Given the description of an element on the screen output the (x, y) to click on. 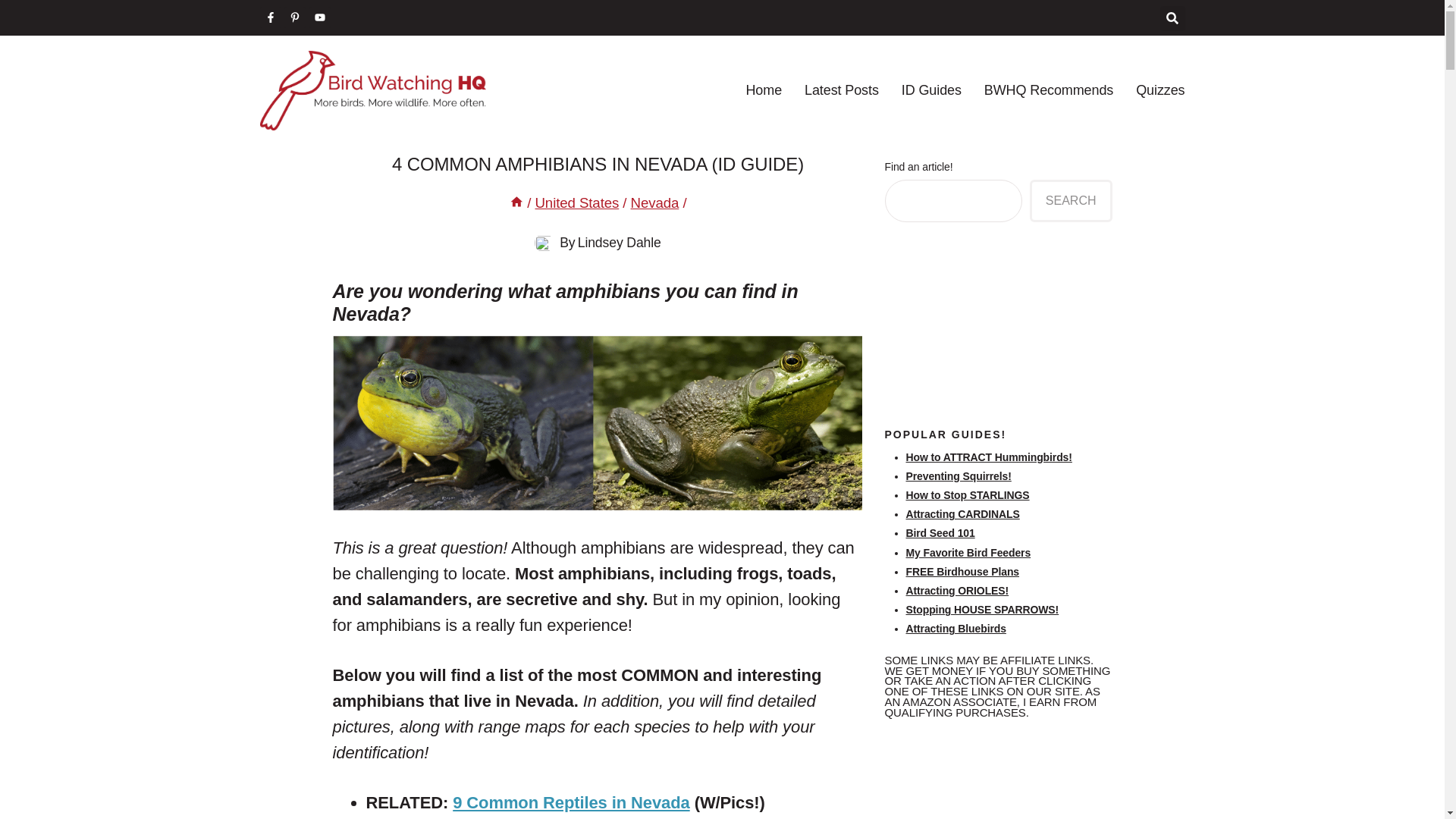
FREE Birdhouse Plans (962, 571)
United States (576, 202)
ID Guides (930, 89)
Attracting Bluebirds (955, 628)
Bird Seed 101 (939, 532)
Attracting CARDINALS (962, 513)
Quizzes (1160, 89)
Latest Posts (842, 89)
How to ATTRACT Hummingbirds! (988, 457)
How to Stop STARLINGS (967, 494)
